Given the description of an element on the screen output the (x, y) to click on. 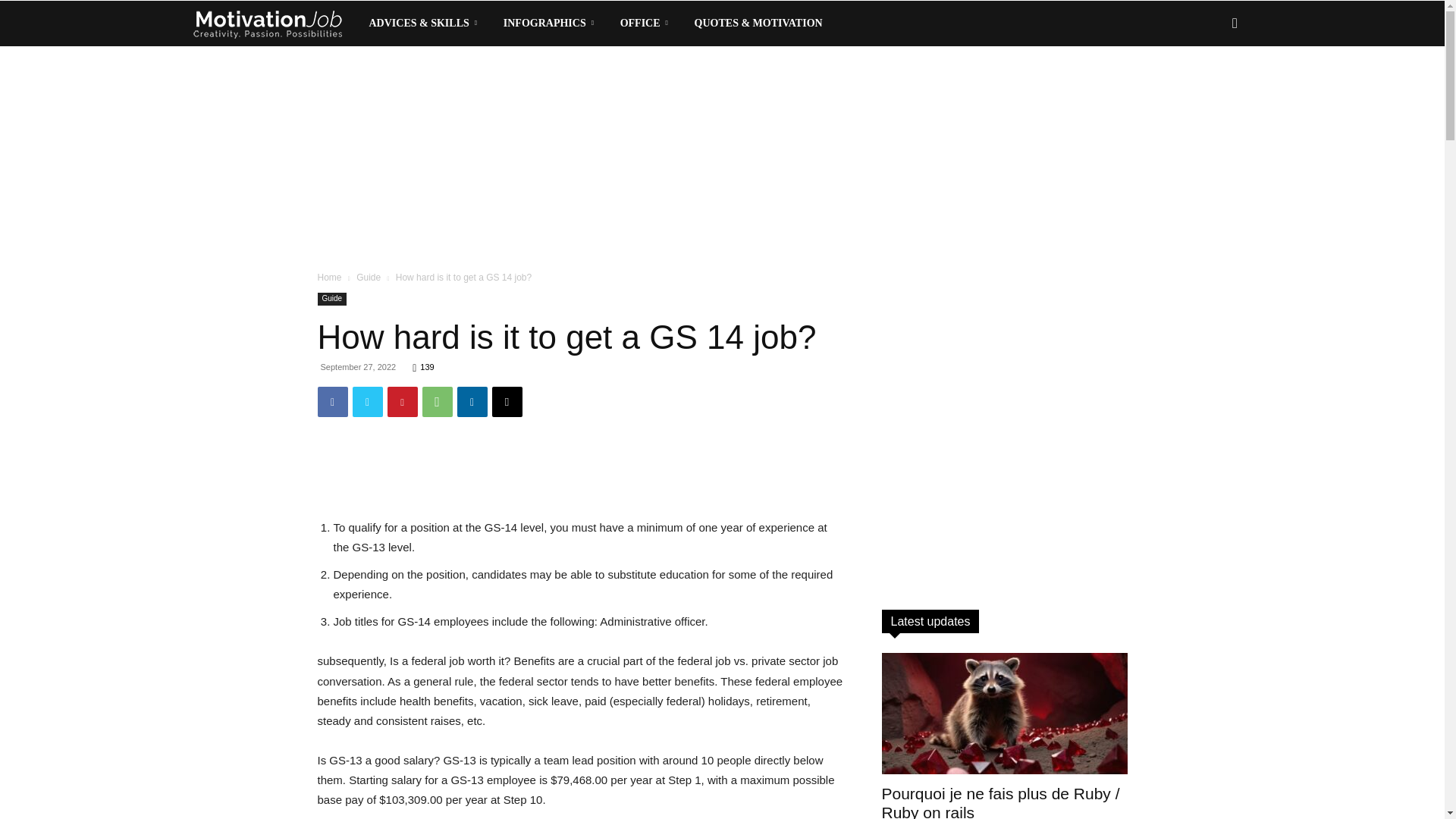
Email (506, 401)
Pinterest (401, 401)
Twitter (366, 401)
View all posts in Guide (368, 276)
WhatsApp (436, 401)
Home (328, 276)
OFFICE (647, 22)
INFOGRAPHICS (551, 22)
Guide (368, 276)
Guide (331, 298)
Search (1210, 88)
Advertisement (580, 467)
Facebook (332, 401)
MotivationJob - Creativity, Passion, Possibilities (266, 24)
